Given the description of an element on the screen output the (x, y) to click on. 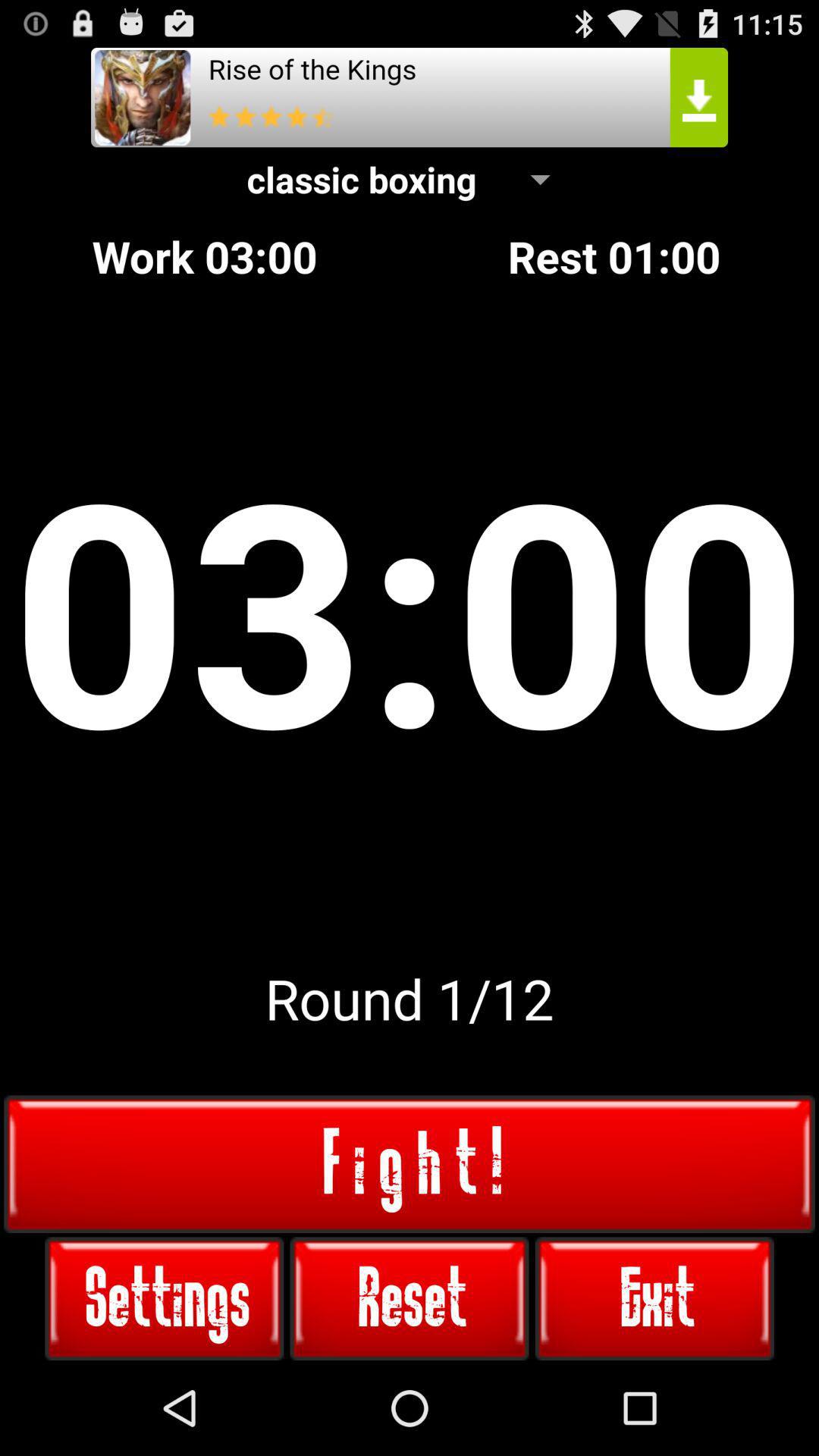
go to advertisements website (409, 97)
